Given the description of an element on the screen output the (x, y) to click on. 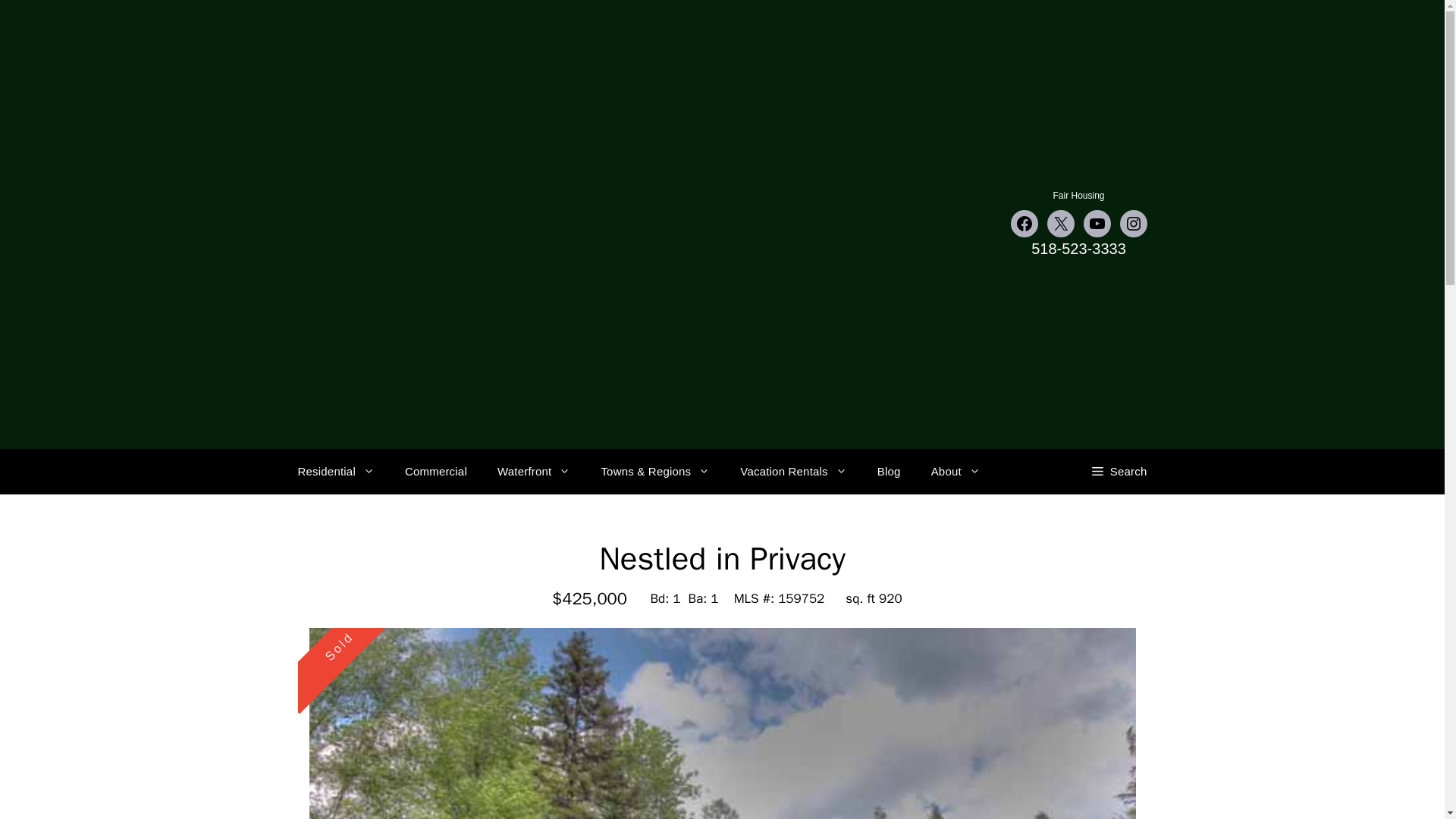
YouTube (1096, 223)
Facebook (1023, 223)
Fair Housing (1077, 195)
Instagram (1133, 223)
X (1060, 223)
518-523-3333 (1077, 248)
